Given the description of an element on the screen output the (x, y) to click on. 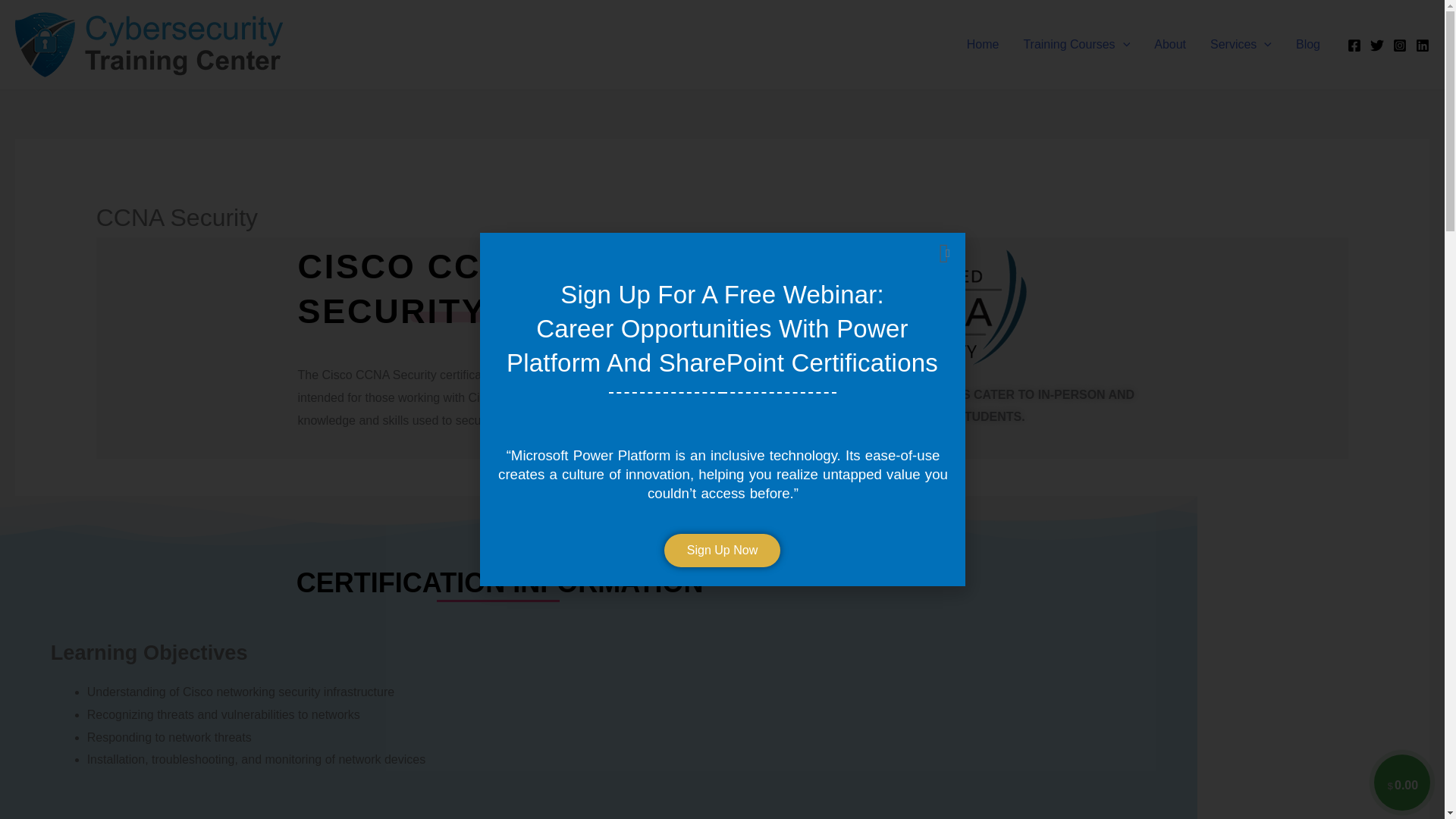
About (1169, 44)
Home (983, 44)
Services (1241, 44)
Blog (1308, 44)
Training Courses (1075, 44)
